Given the description of an element on the screen output the (x, y) to click on. 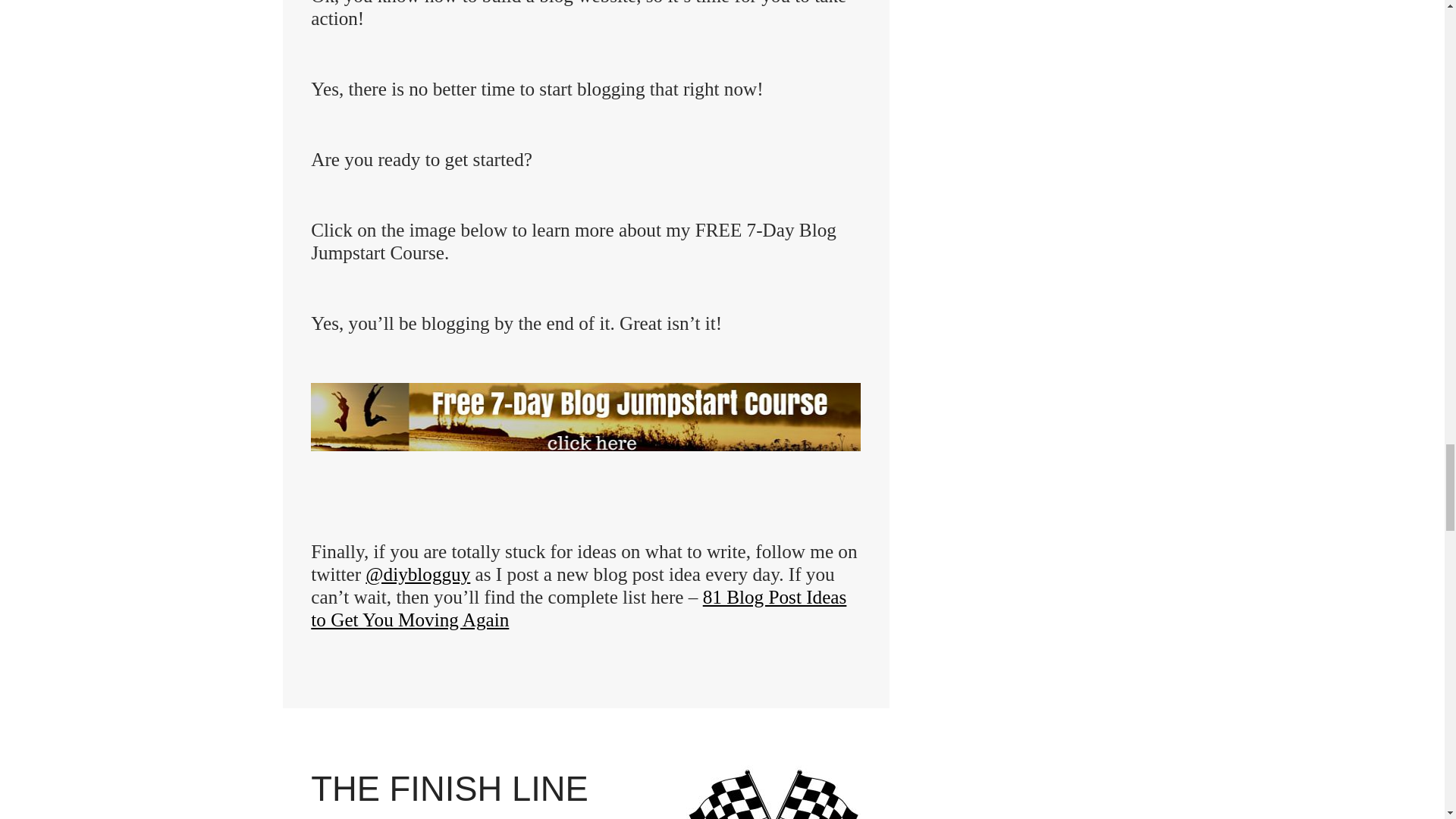
81 Blog Post Ideas to Get You Moving Again (578, 608)
